Given the description of an element on the screen output the (x, y) to click on. 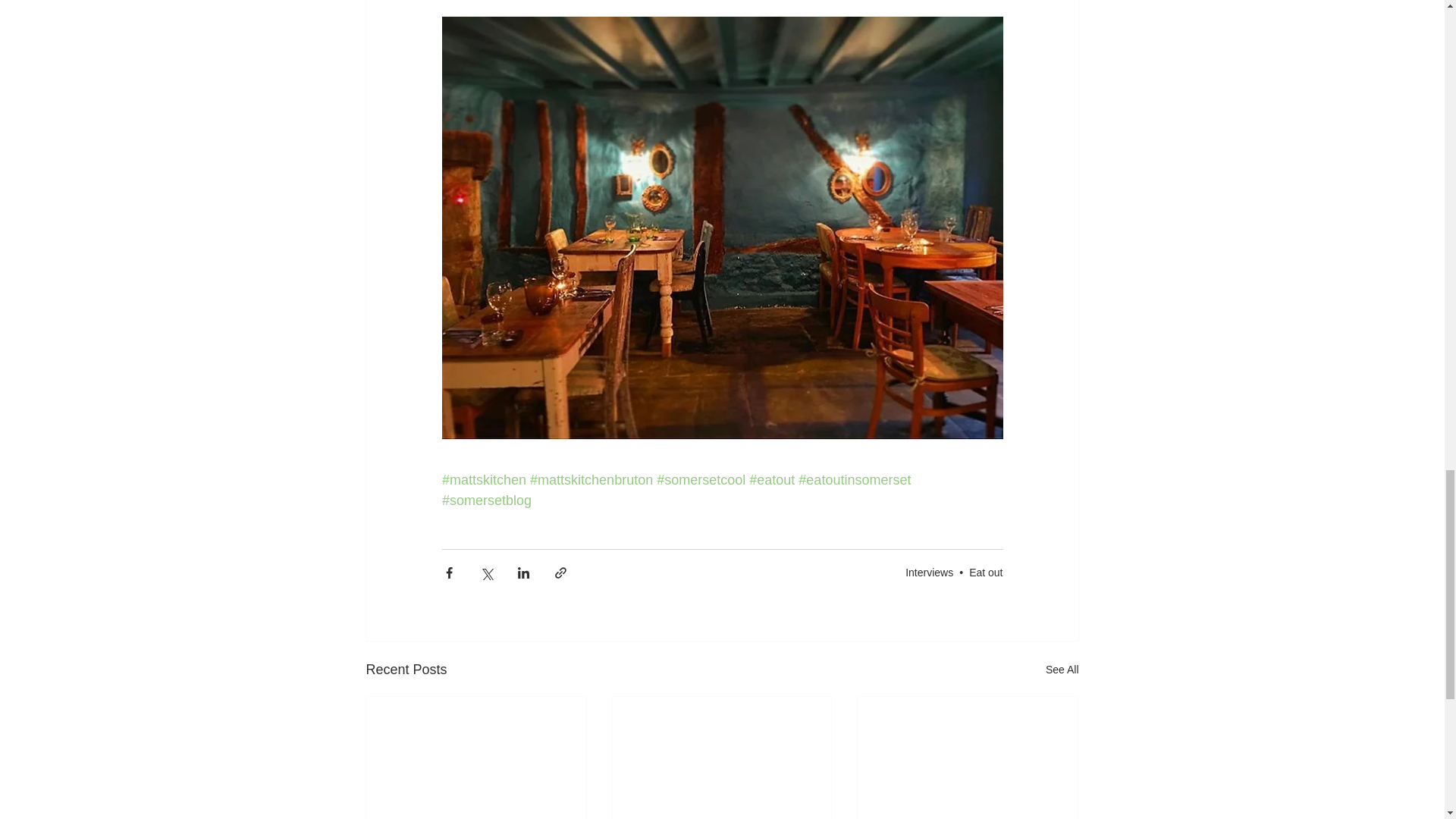
Interviews (929, 572)
Eat out (986, 572)
See All (1061, 669)
